Given the description of an element on the screen output the (x, y) to click on. 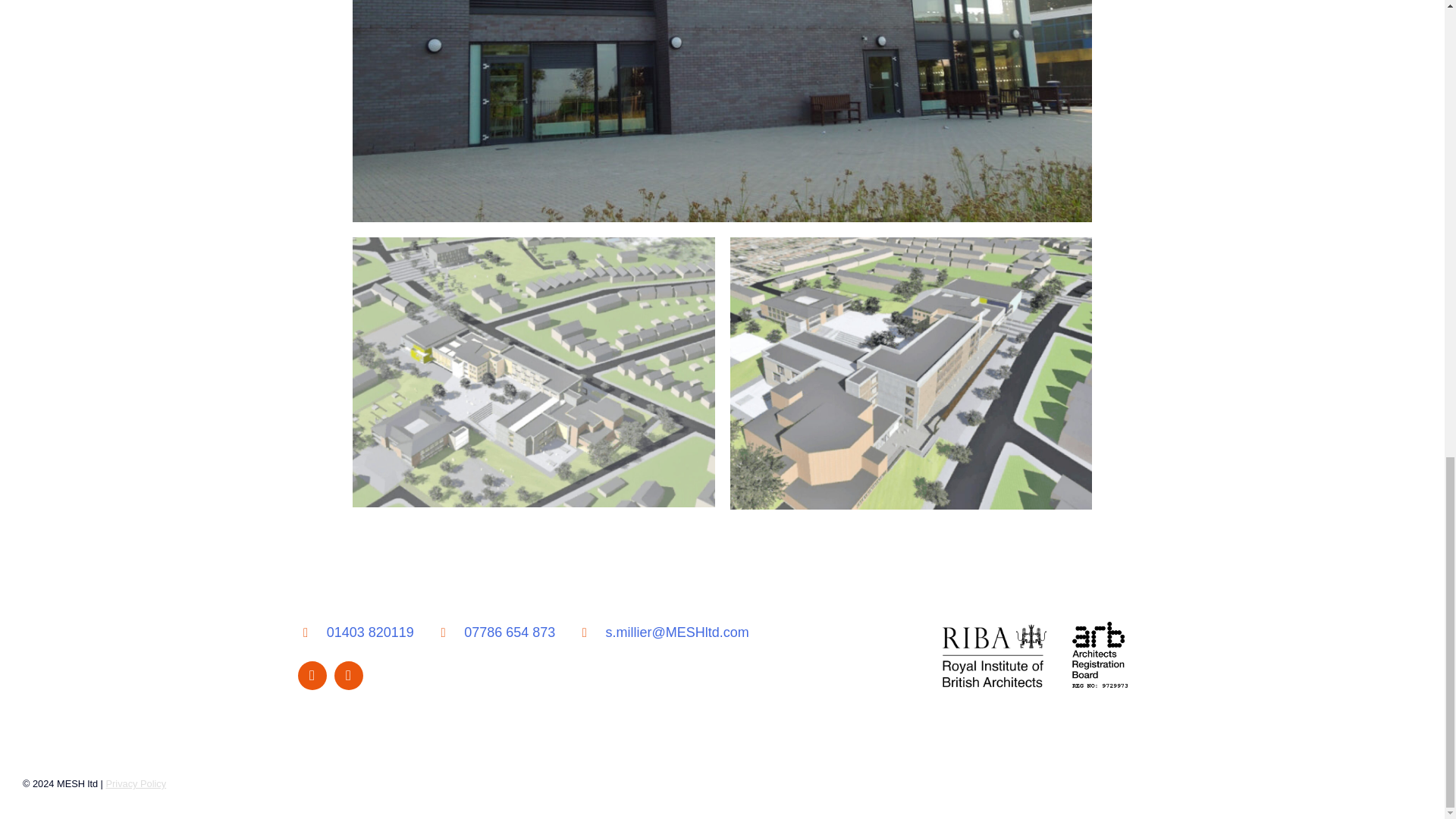
01403 820119 (355, 632)
Privacy Policy (136, 783)
07786 654 873 (494, 632)
